Given the description of an element on the screen output the (x, y) to click on. 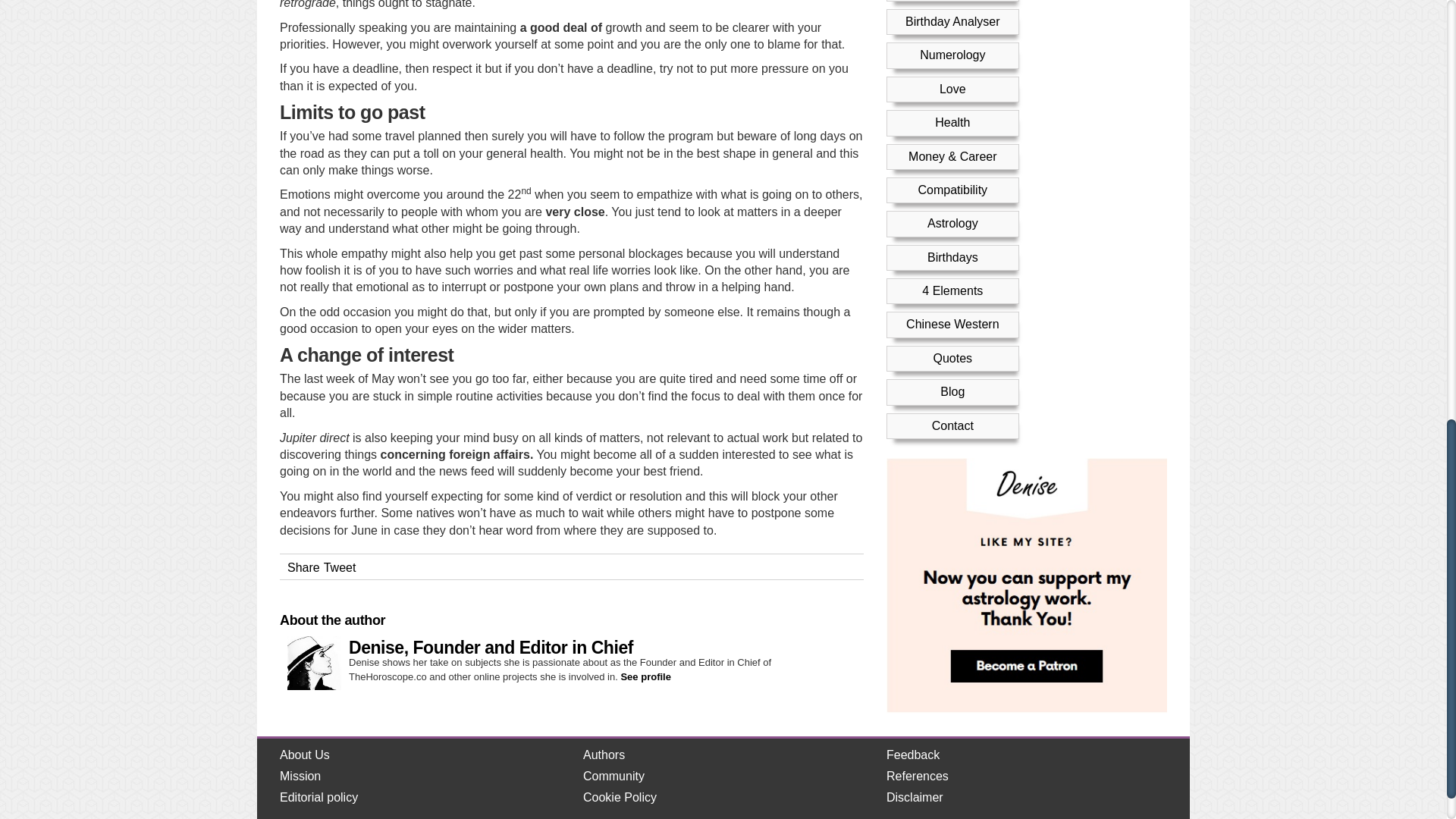
Chinese Western (952, 88)
Blog (952, 155)
Quotes (952, 123)
4 Elements (952, 55)
Birthdays (952, 21)
